Given the description of an element on the screen output the (x, y) to click on. 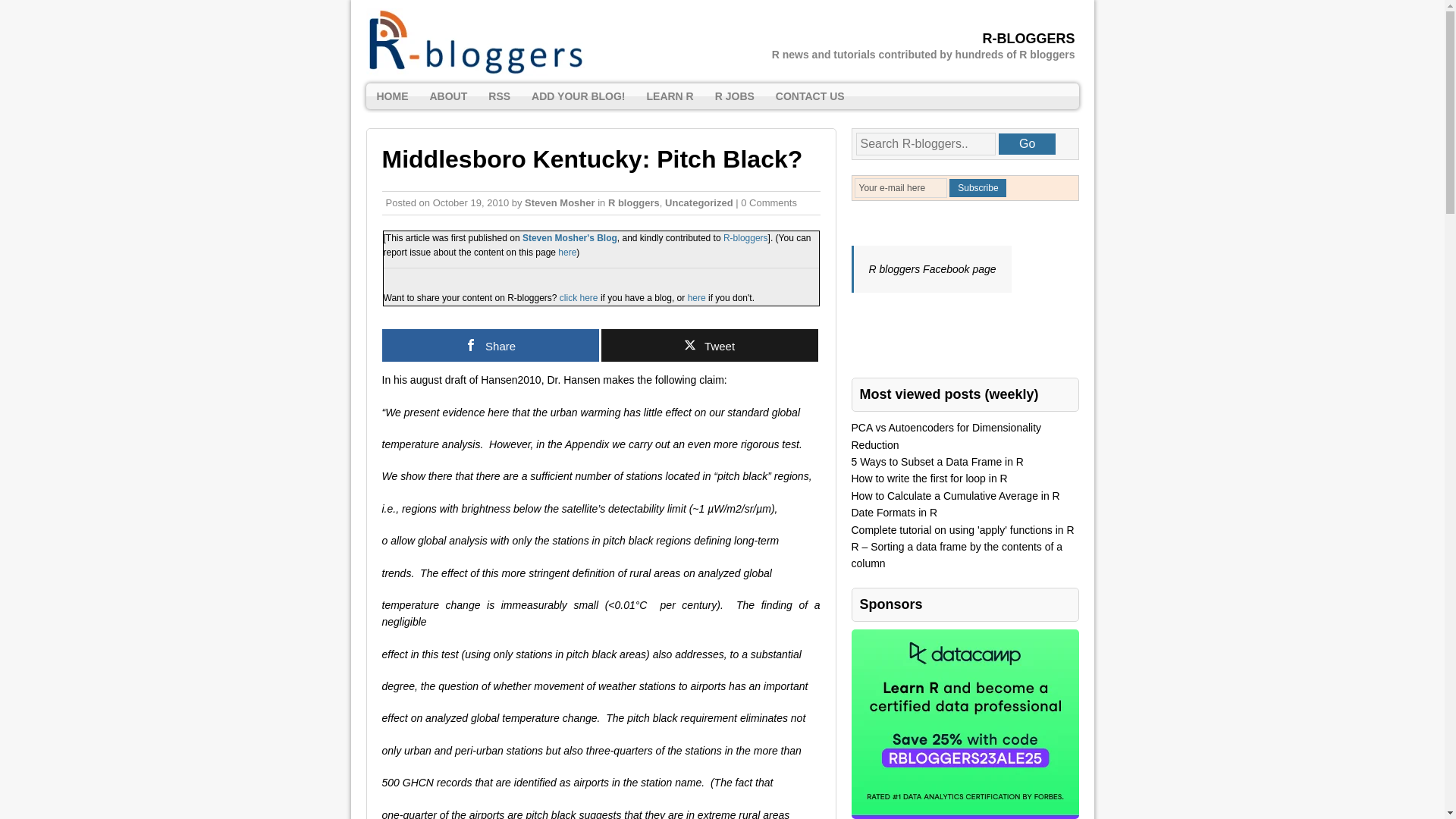
5 Ways to Subset a Data Frame in R (936, 461)
PCA vs Autoencoders for Dimensionality Reduction (945, 435)
Steven Mosher (559, 202)
Steven Mosher's Blog (569, 237)
R bloggers (633, 202)
ABOUT (448, 95)
How to write the first for loop in R (928, 478)
Subscribe (977, 188)
click here (577, 297)
Uncategorized (699, 202)
